Given the description of an element on the screen output the (x, y) to click on. 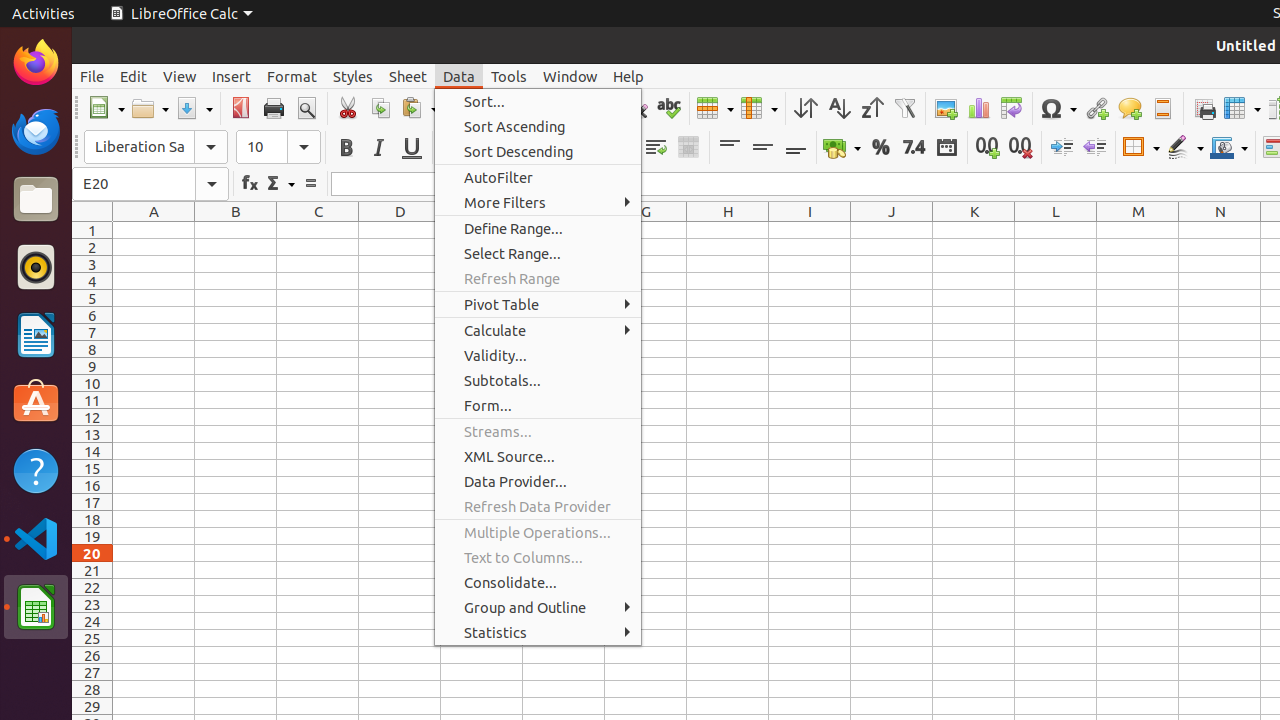
More Filters Element type: menu (538, 202)
Save Element type: push-button (194, 108)
Edit Element type: menu (133, 76)
Sort... Element type: menu-item (538, 101)
Sort Descending Element type: menu-item (538, 151)
